Given the description of an element on the screen output the (x, y) to click on. 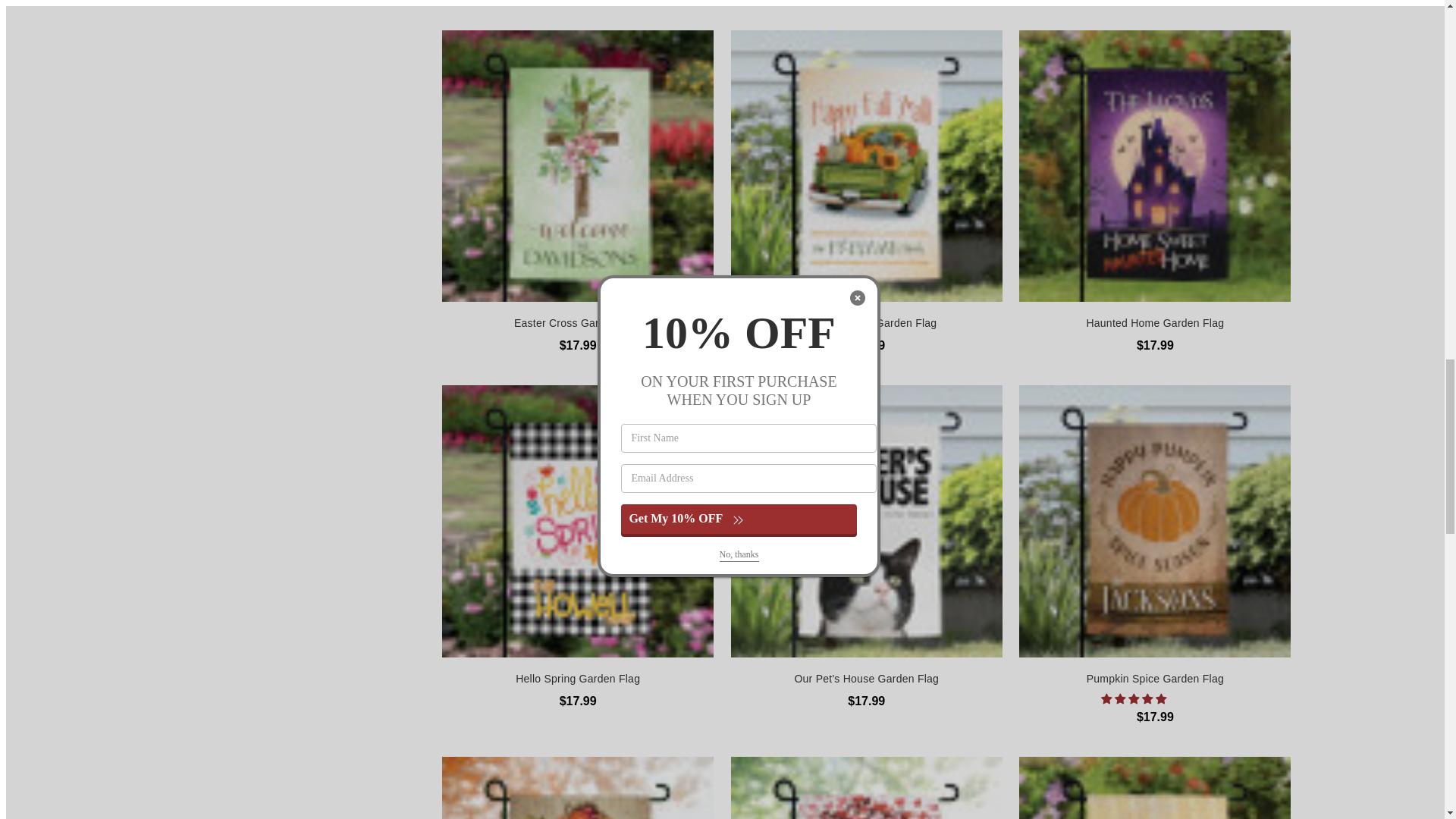
Happy Fall Y'all Personalized Garden Flag (866, 166)
